Given the description of an element on the screen output the (x, y) to click on. 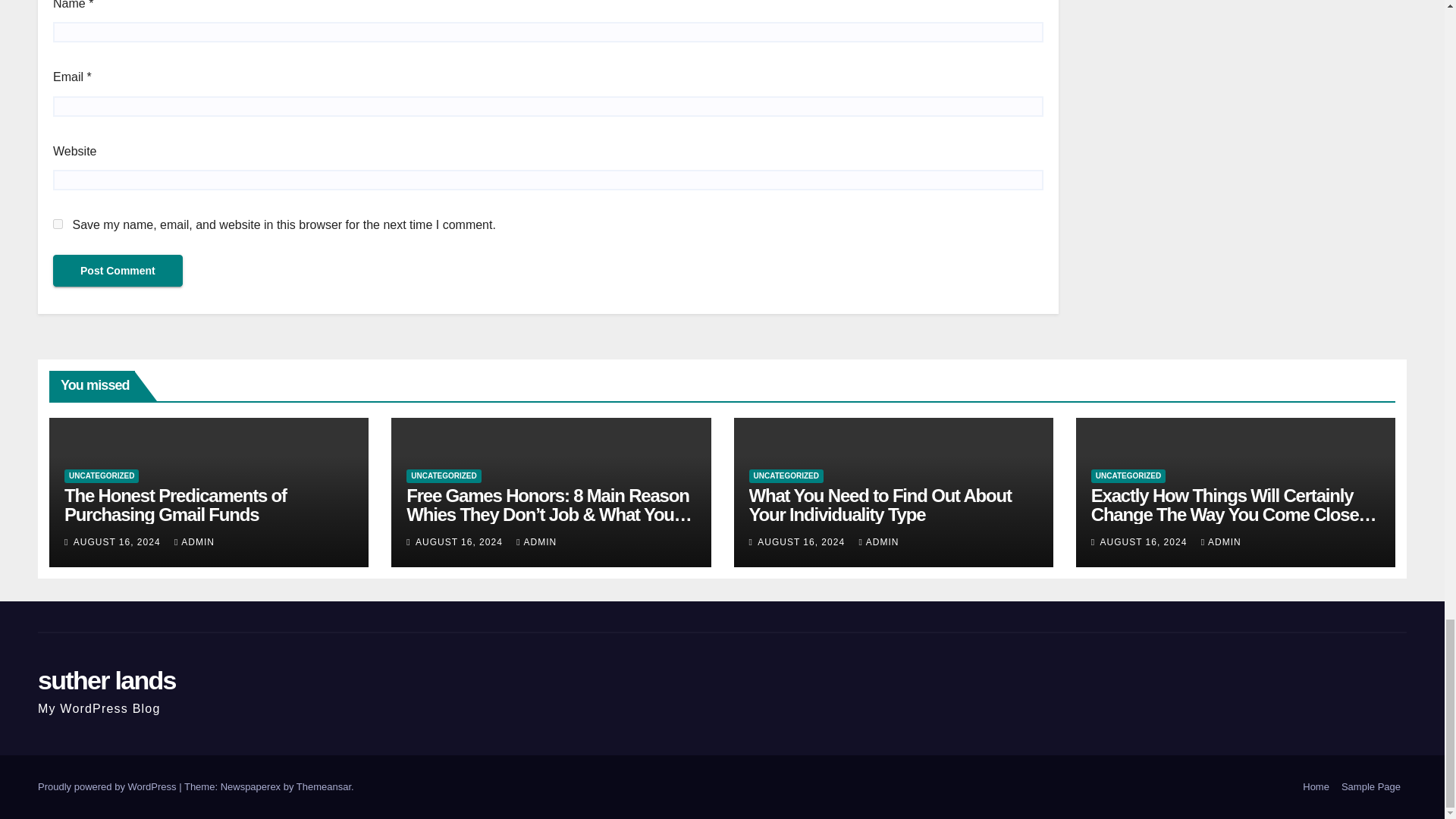
Post Comment (117, 270)
yes (57, 224)
Post Comment (117, 270)
Home (1316, 786)
